Given the description of an element on the screen output the (x, y) to click on. 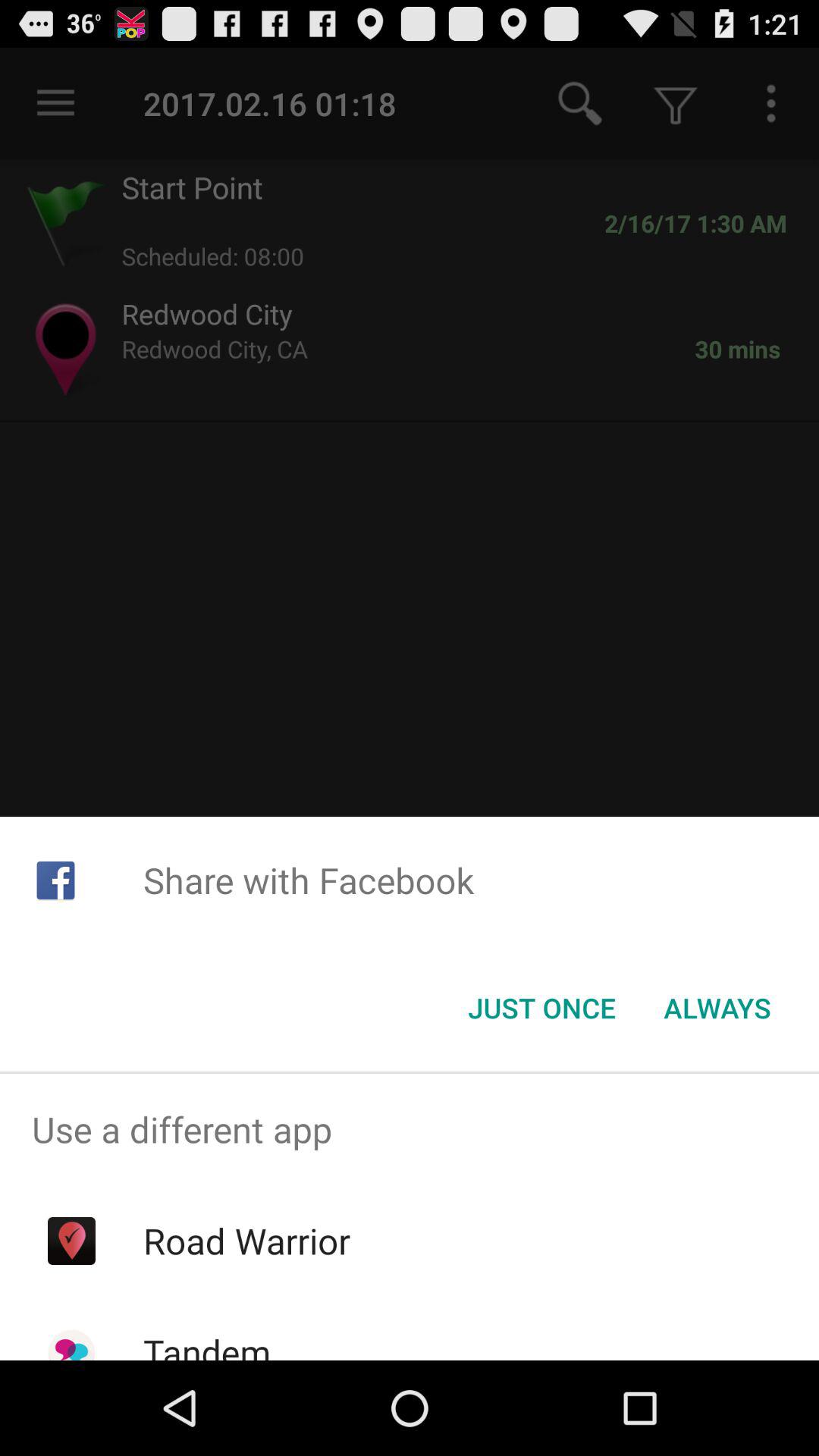
scroll until just once icon (541, 1007)
